Given the description of an element on the screen output the (x, y) to click on. 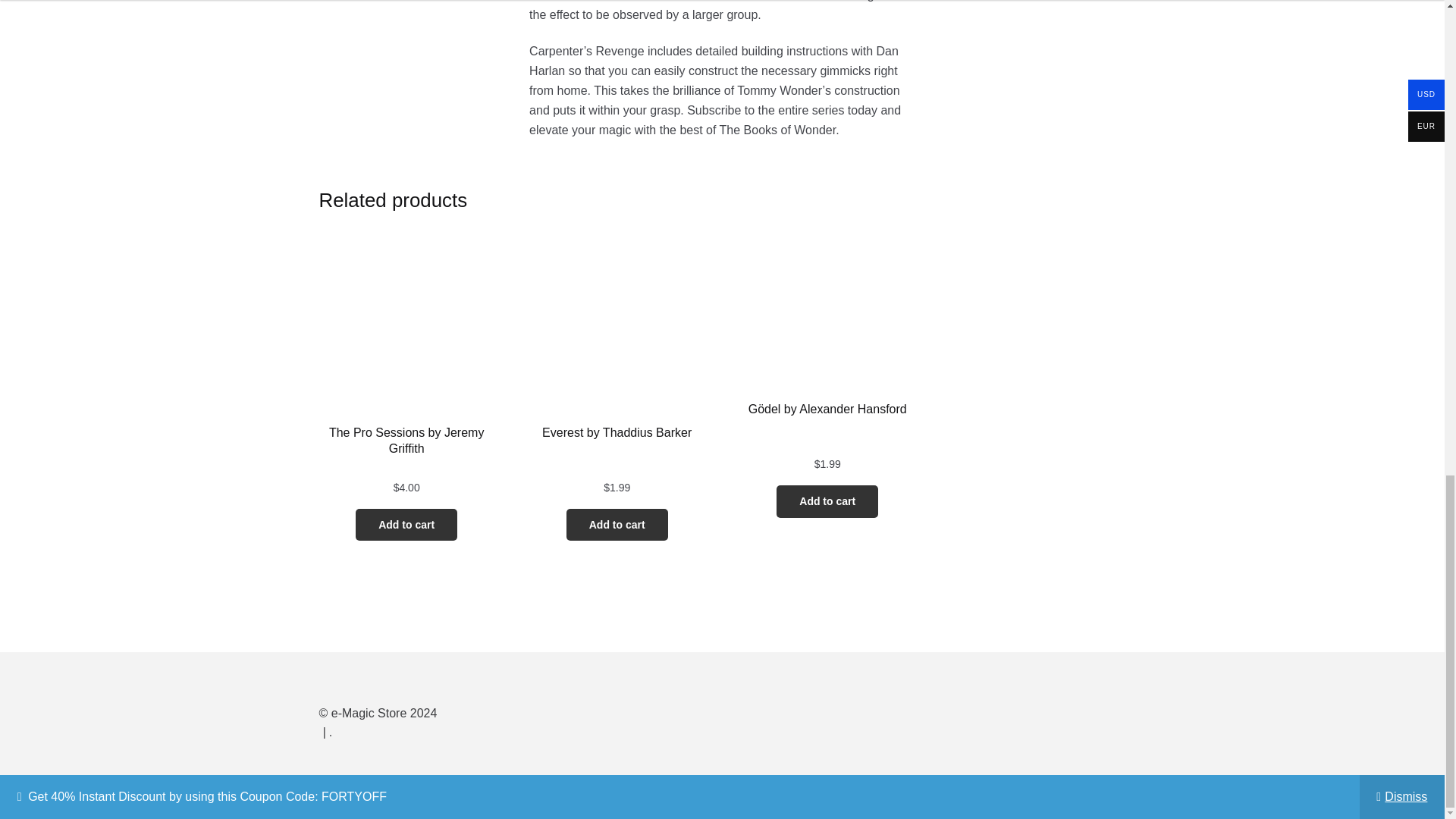
Add to cart (406, 524)
Add to cart (826, 501)
Add to cart (617, 524)
